Given the description of an element on the screen output the (x, y) to click on. 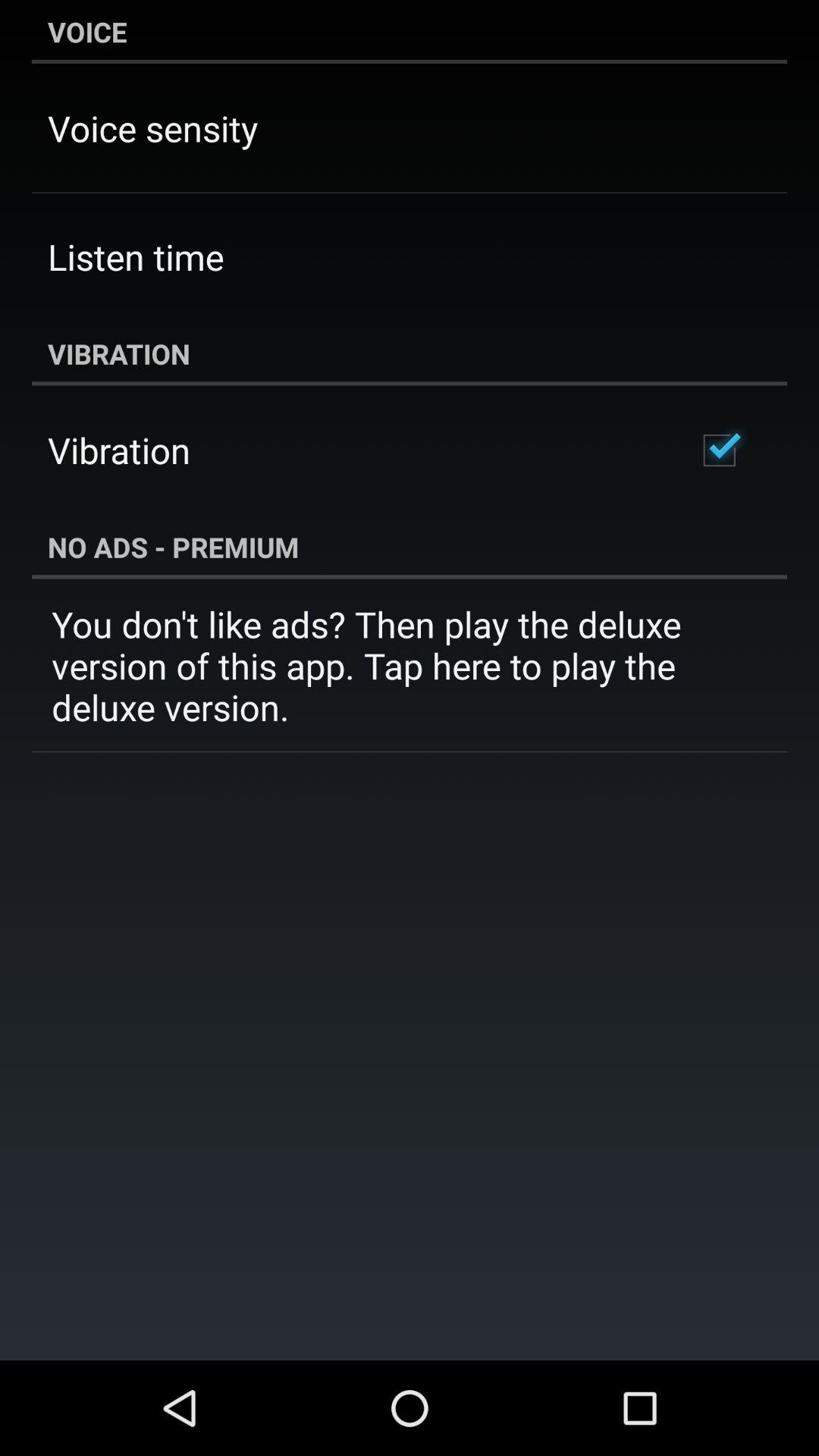
tap the voice sensity (152, 128)
